Given the description of an element on the screen output the (x, y) to click on. 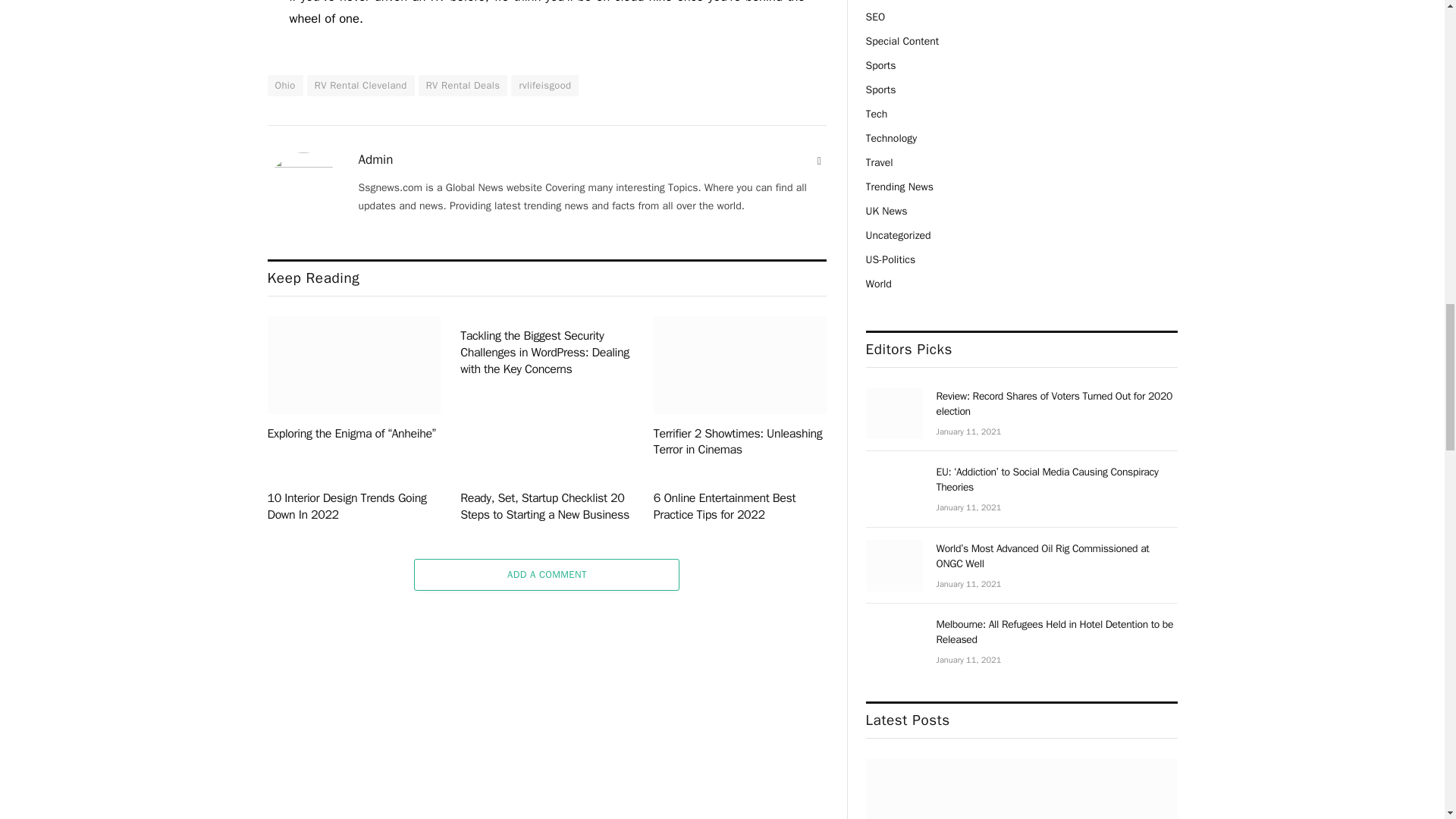
Website (818, 160)
Posts by Admin (375, 159)
